Given the description of an element on the screen output the (x, y) to click on. 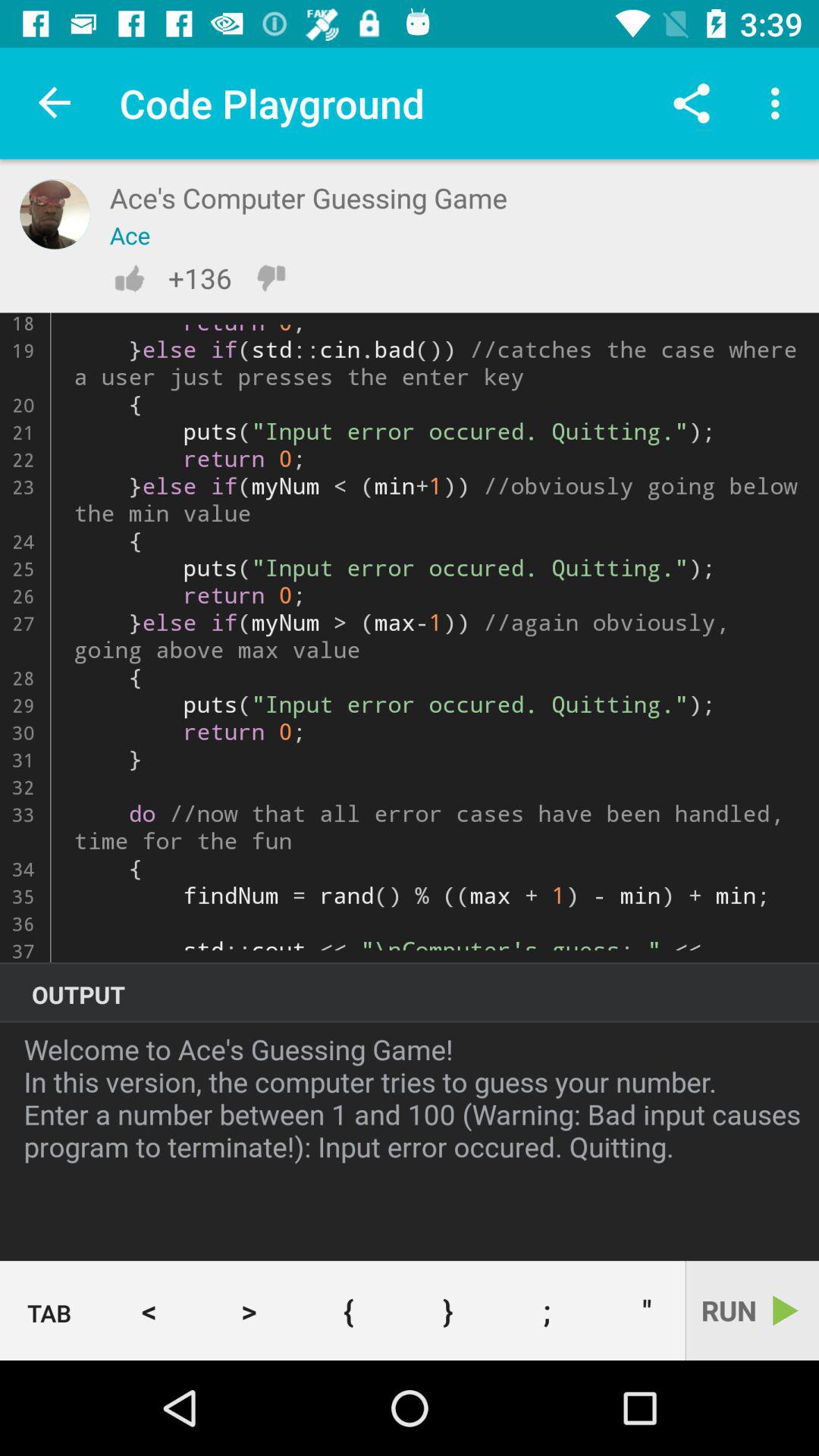
select icon next to the run (641, 1310)
